Given the description of an element on the screen output the (x, y) to click on. 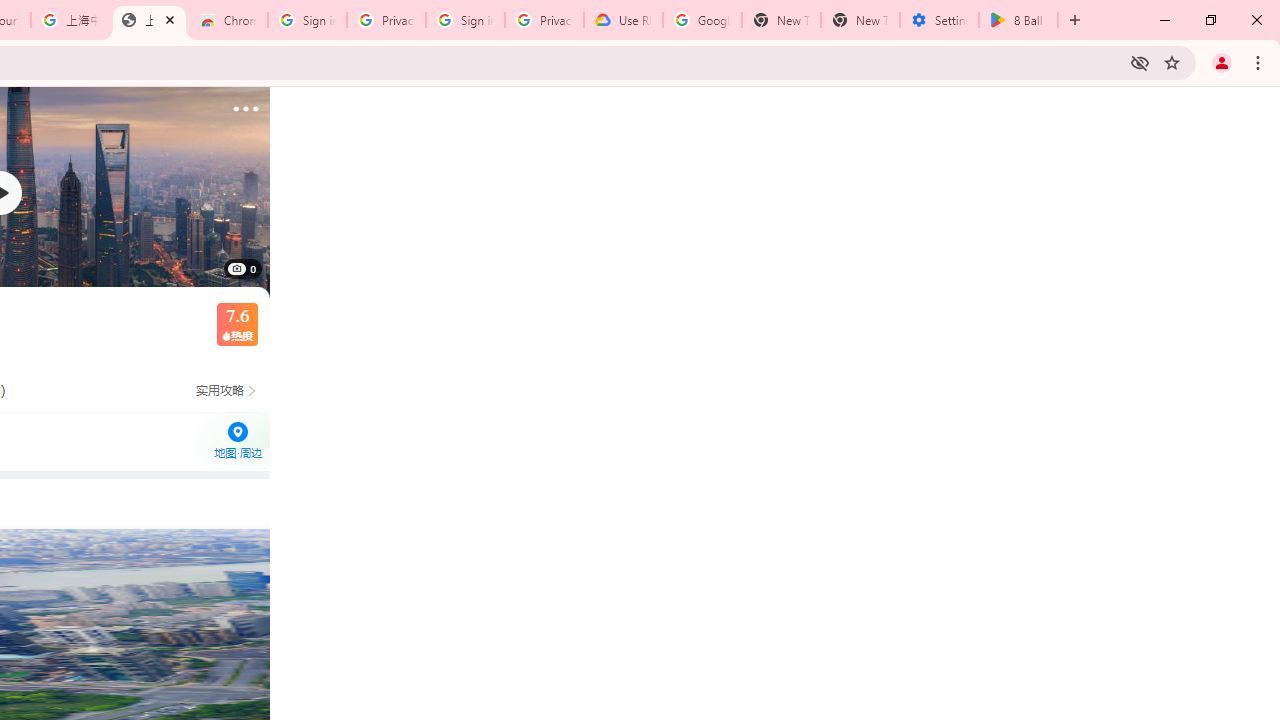
Settings - System (939, 20)
